Given the description of an element on the screen output the (x, y) to click on. 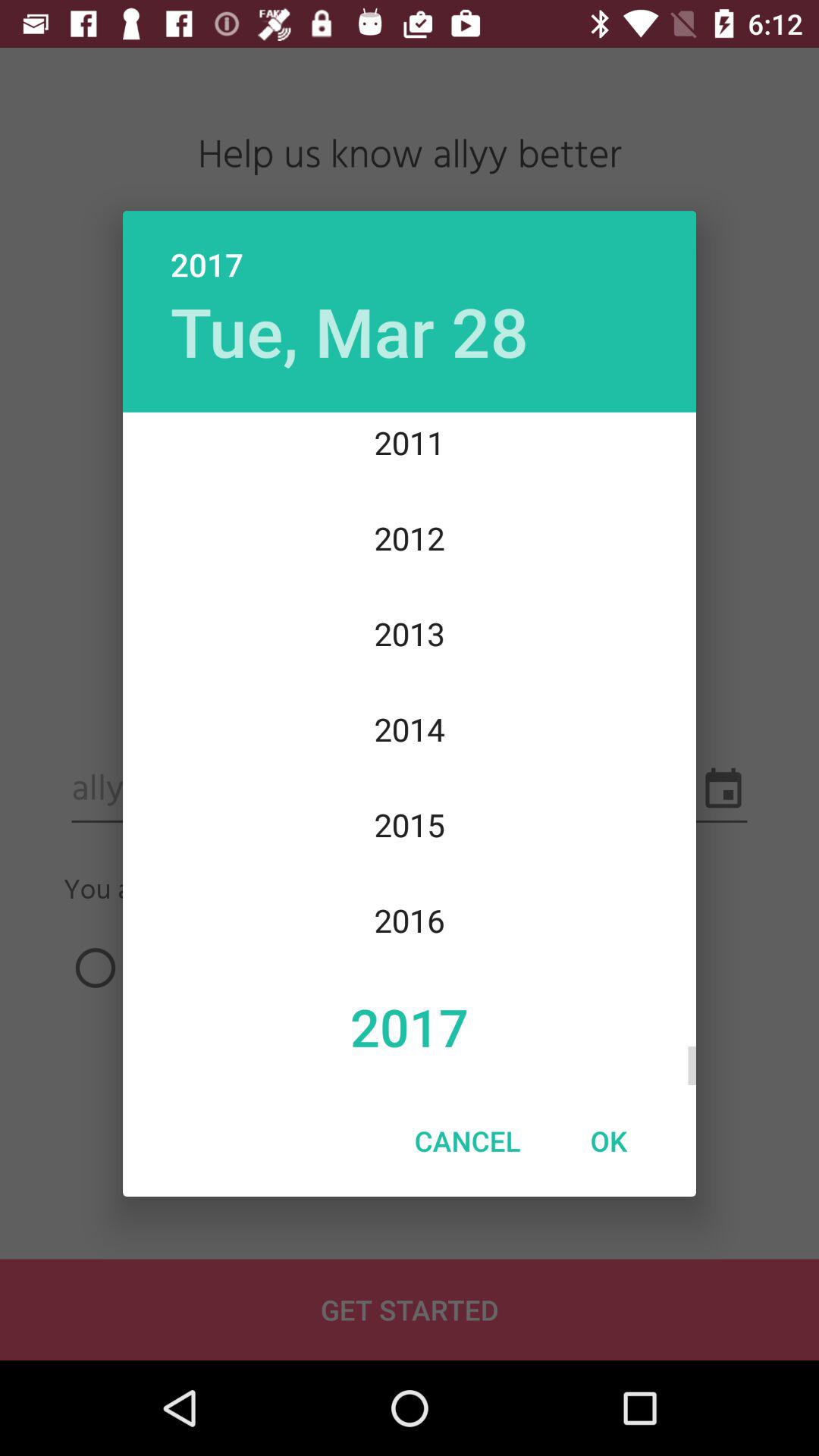
flip until the cancel icon (467, 1140)
